Given the description of an element on the screen output the (x, y) to click on. 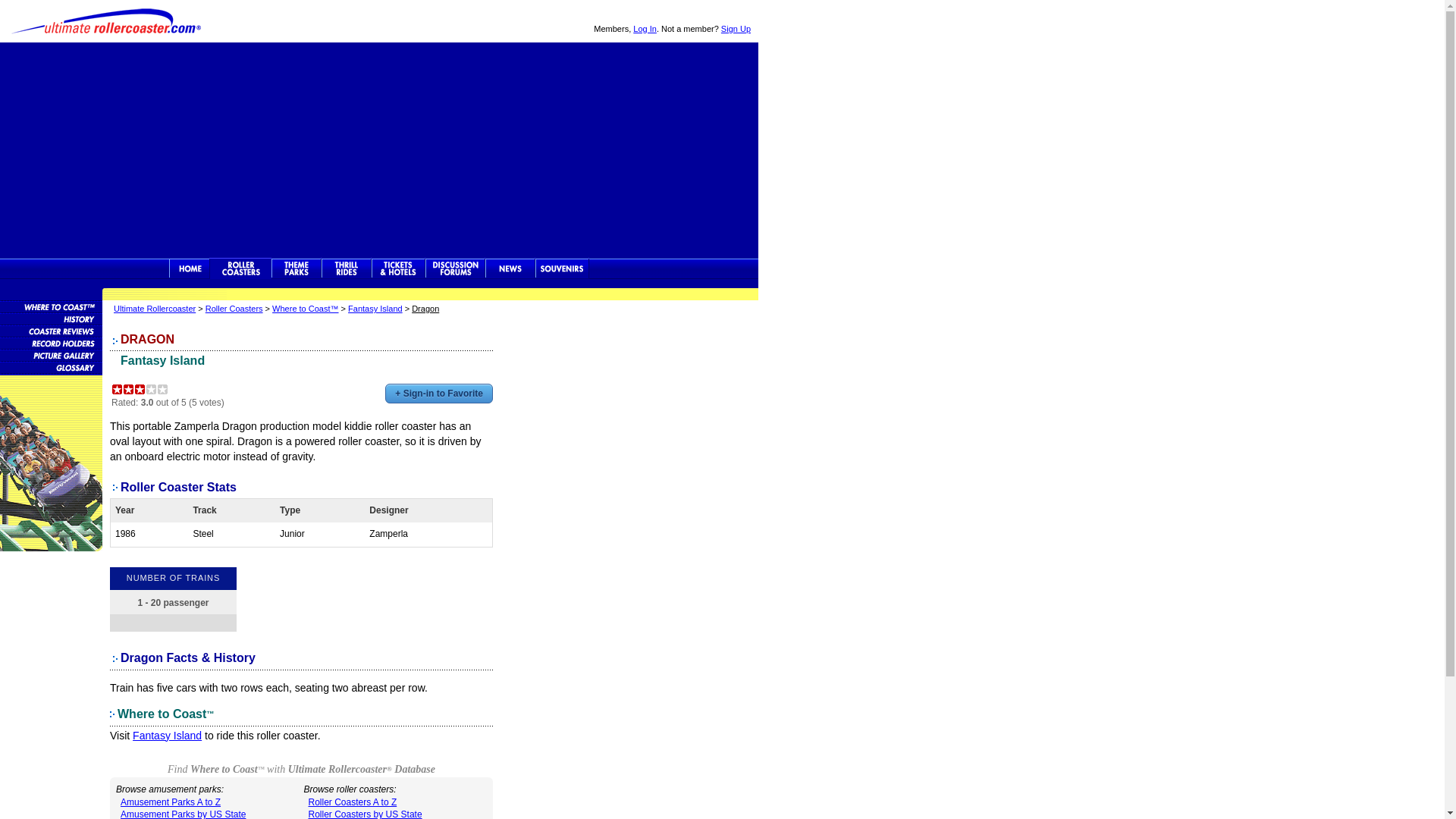
Theme Parks (295, 268)
2 (127, 389)
Ultimate Rollercoaster (188, 268)
4 (151, 389)
Thrill Rides (346, 268)
Fantasy Island (375, 307)
Rollercoasters (239, 268)
Souvenirs (562, 268)
Ultimate Rollercoaster (105, 21)
Amusement Parks by US State (183, 814)
Advertisement (379, 148)
Fantasy Island (167, 735)
Discussion Forums (454, 268)
Roller Coasters (234, 307)
News (509, 268)
